Given the description of an element on the screen output the (x, y) to click on. 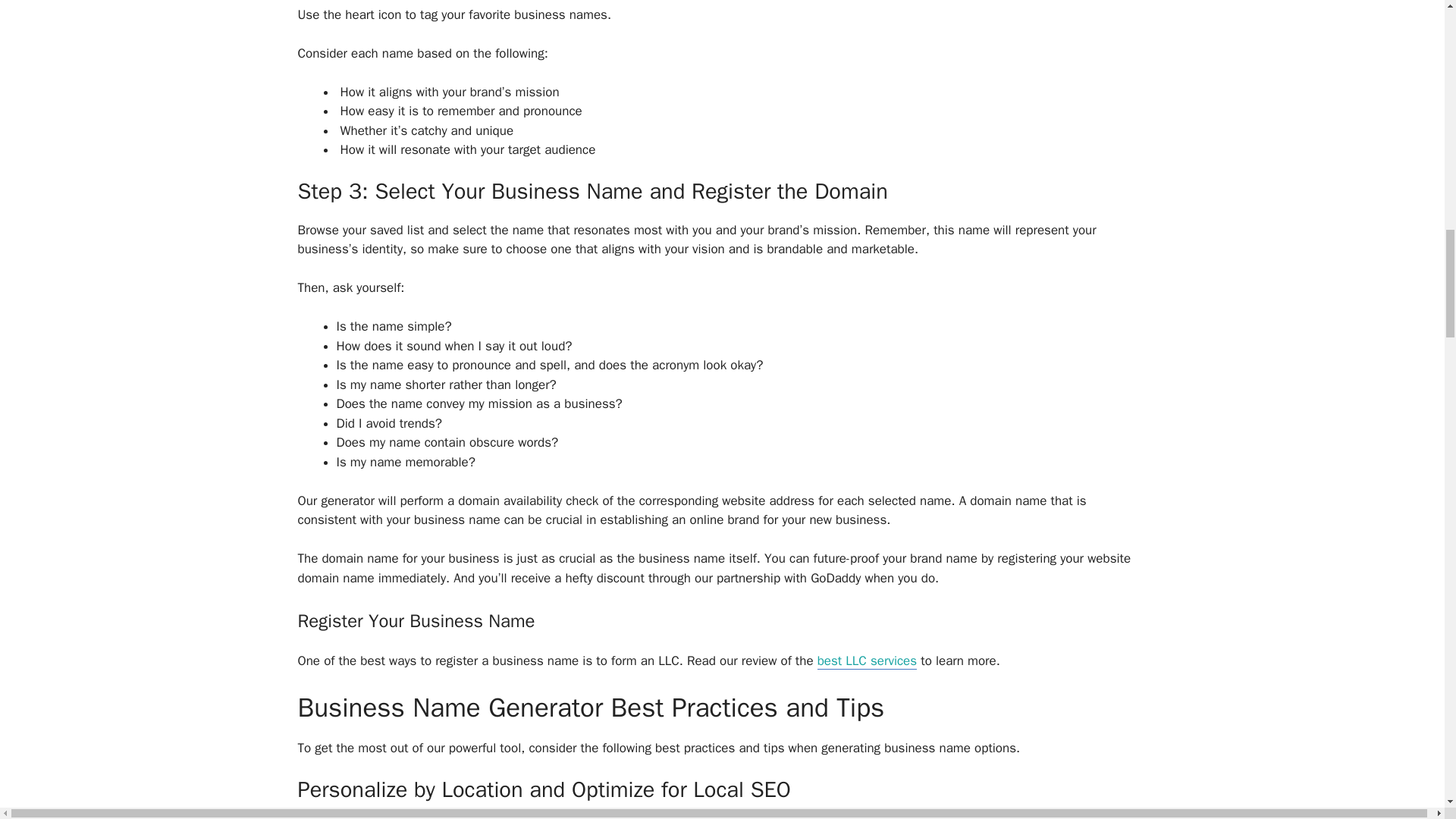
best LLC services (866, 660)
